Given the description of an element on the screen output the (x, y) to click on. 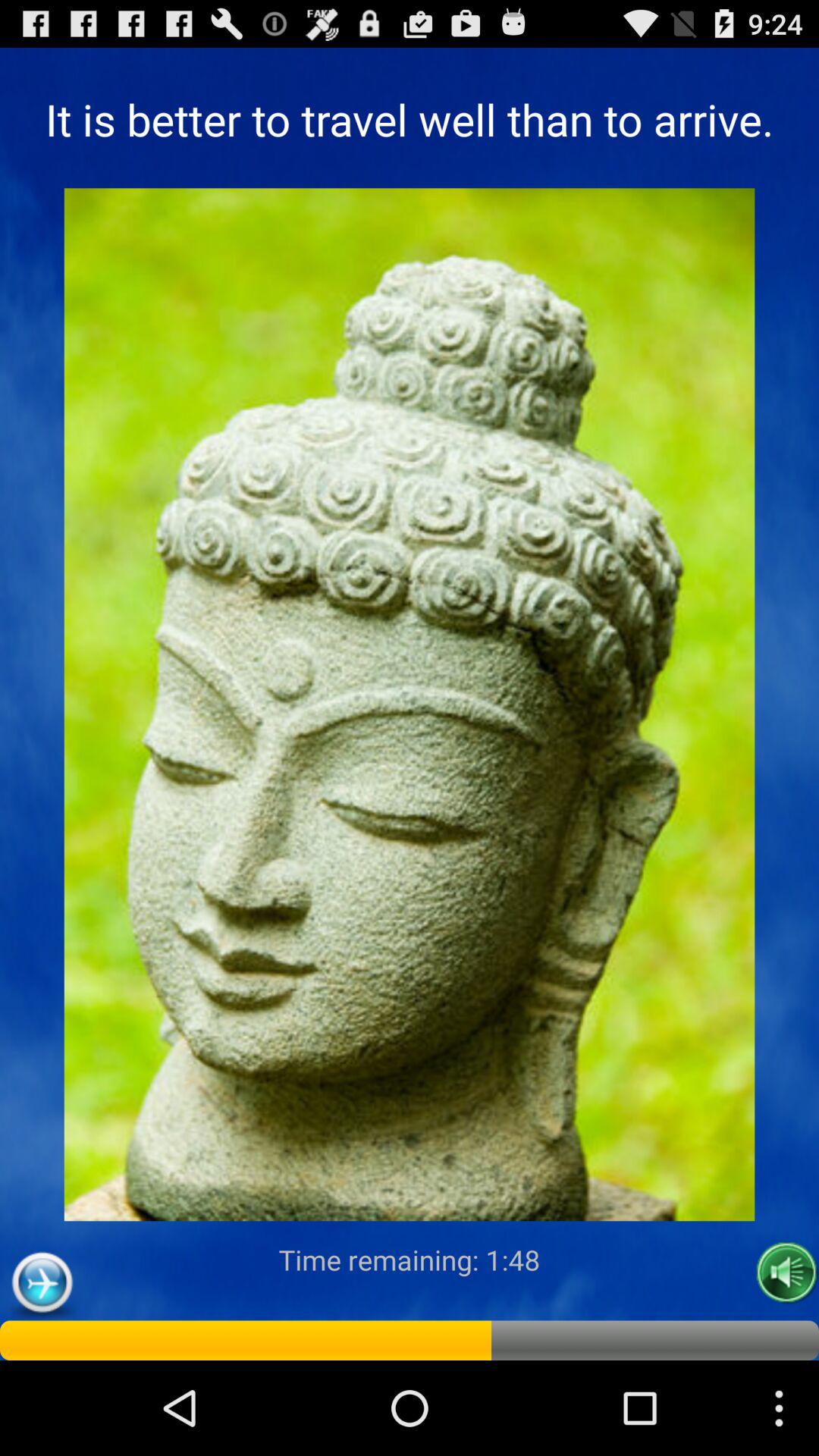
select the icon to the left of time remaining 1 (42, 1283)
